Given the description of an element on the screen output the (x, y) to click on. 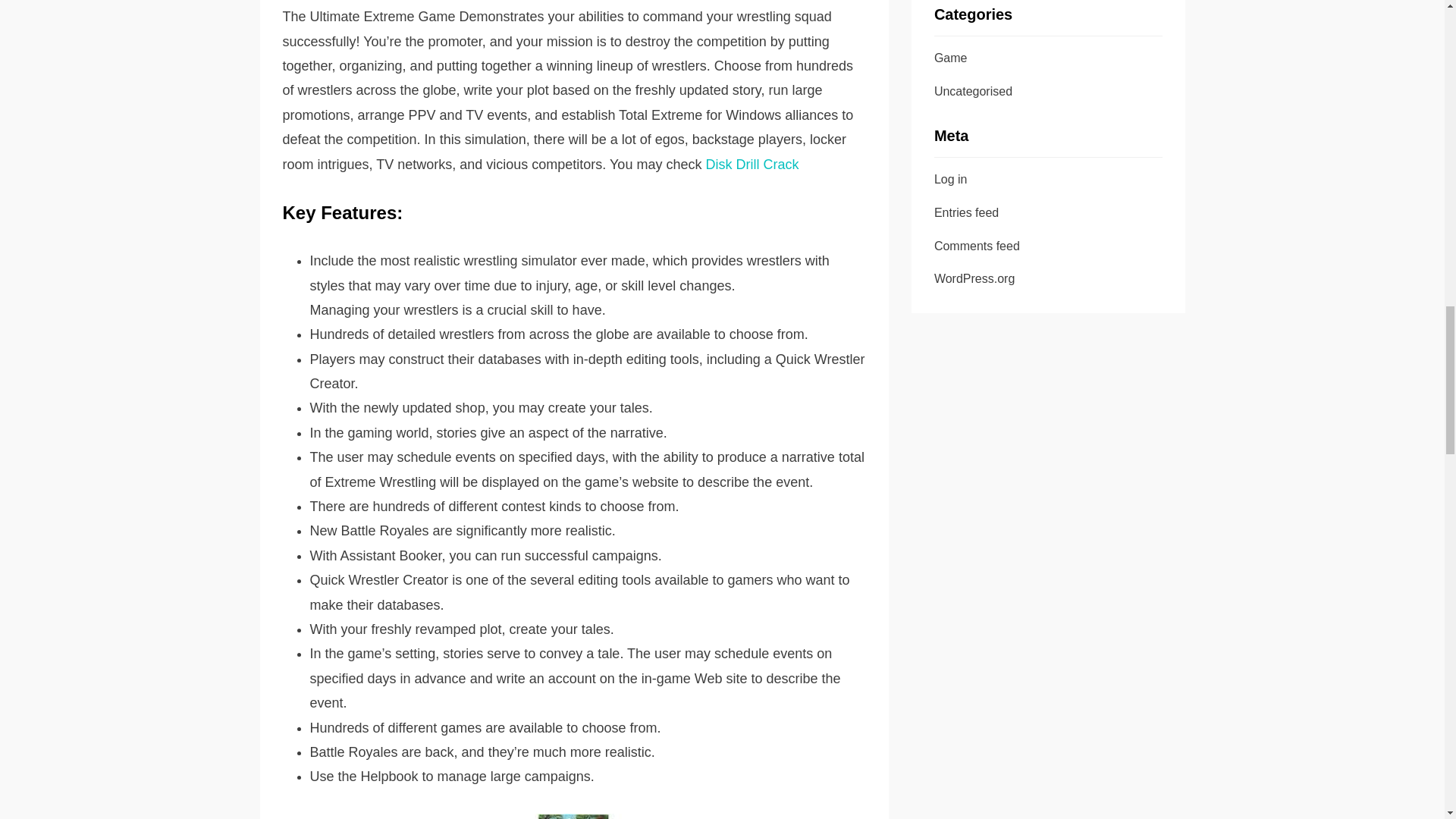
Disk Drill Crack (750, 164)
